Given the description of an element on the screen output the (x, y) to click on. 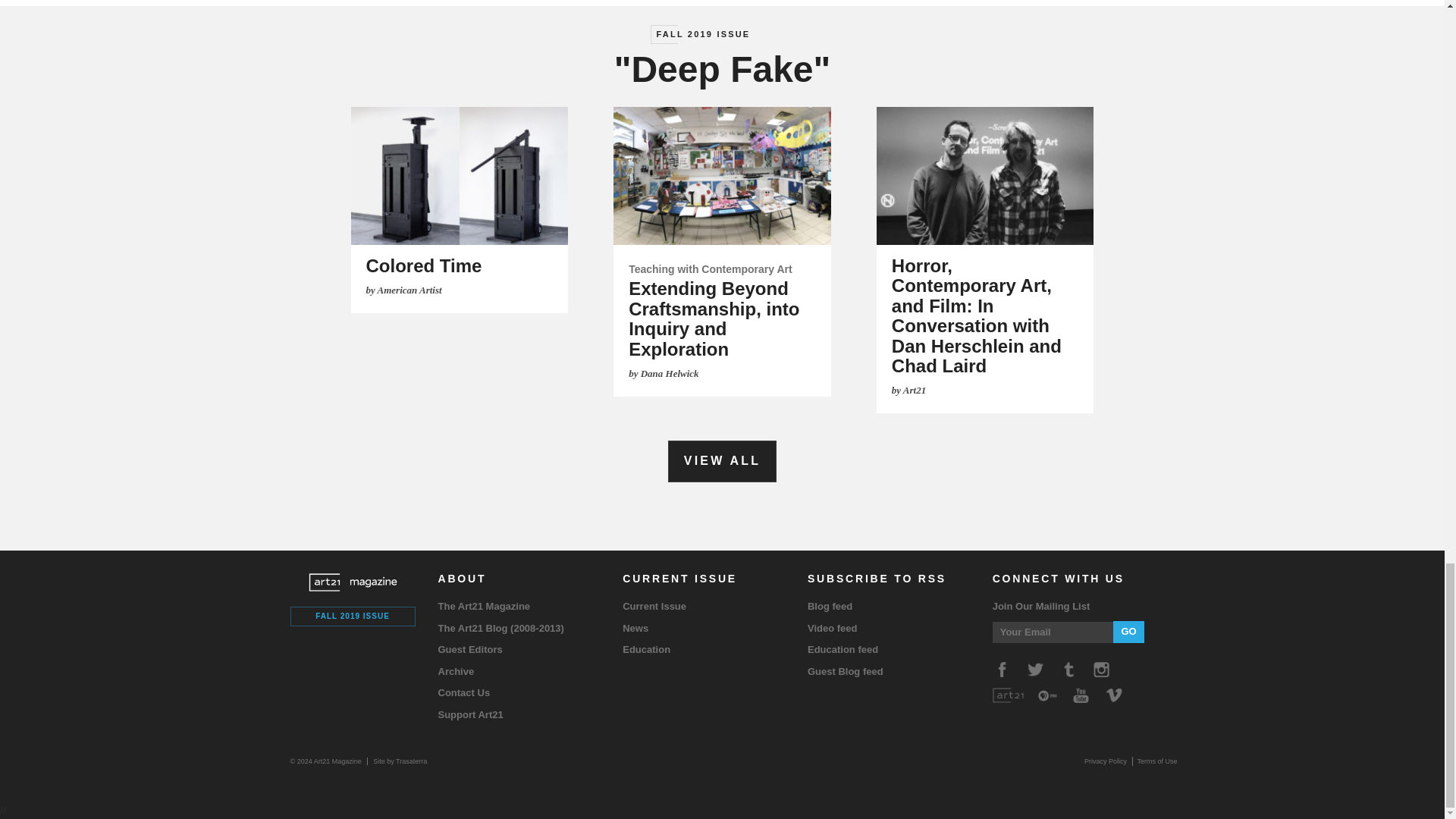
Go (1127, 631)
Art21 Magazine (328, 760)
Art21 Magazine (351, 582)
